Given the description of an element on the screen output the (x, y) to click on. 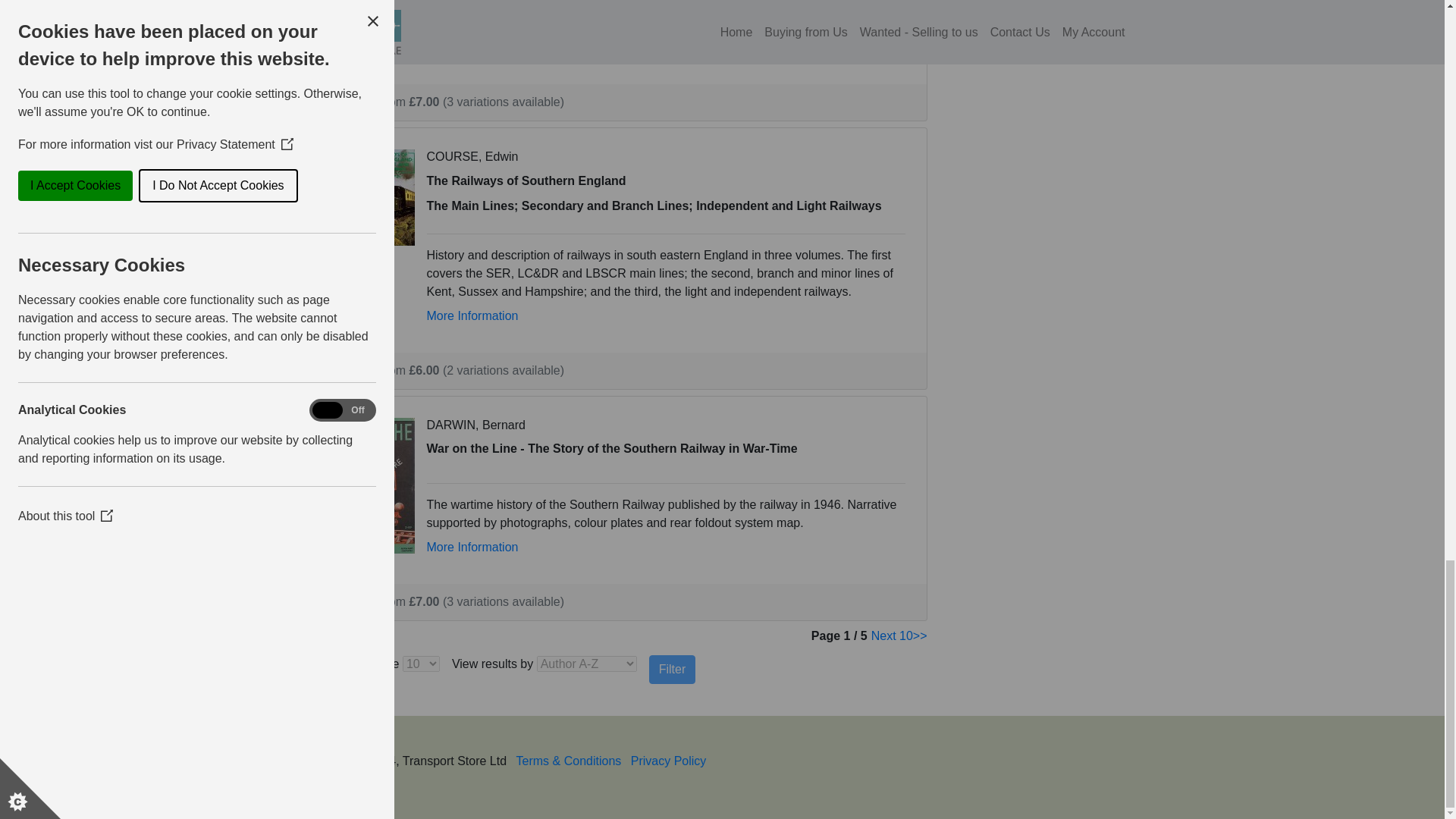
The Railways of Southern England  by COURSE, Edwin  (368, 196)
Southern Railway Handbook  by COOPER, B.K.  (368, 4)
